Given the description of an element on the screen output the (x, y) to click on. 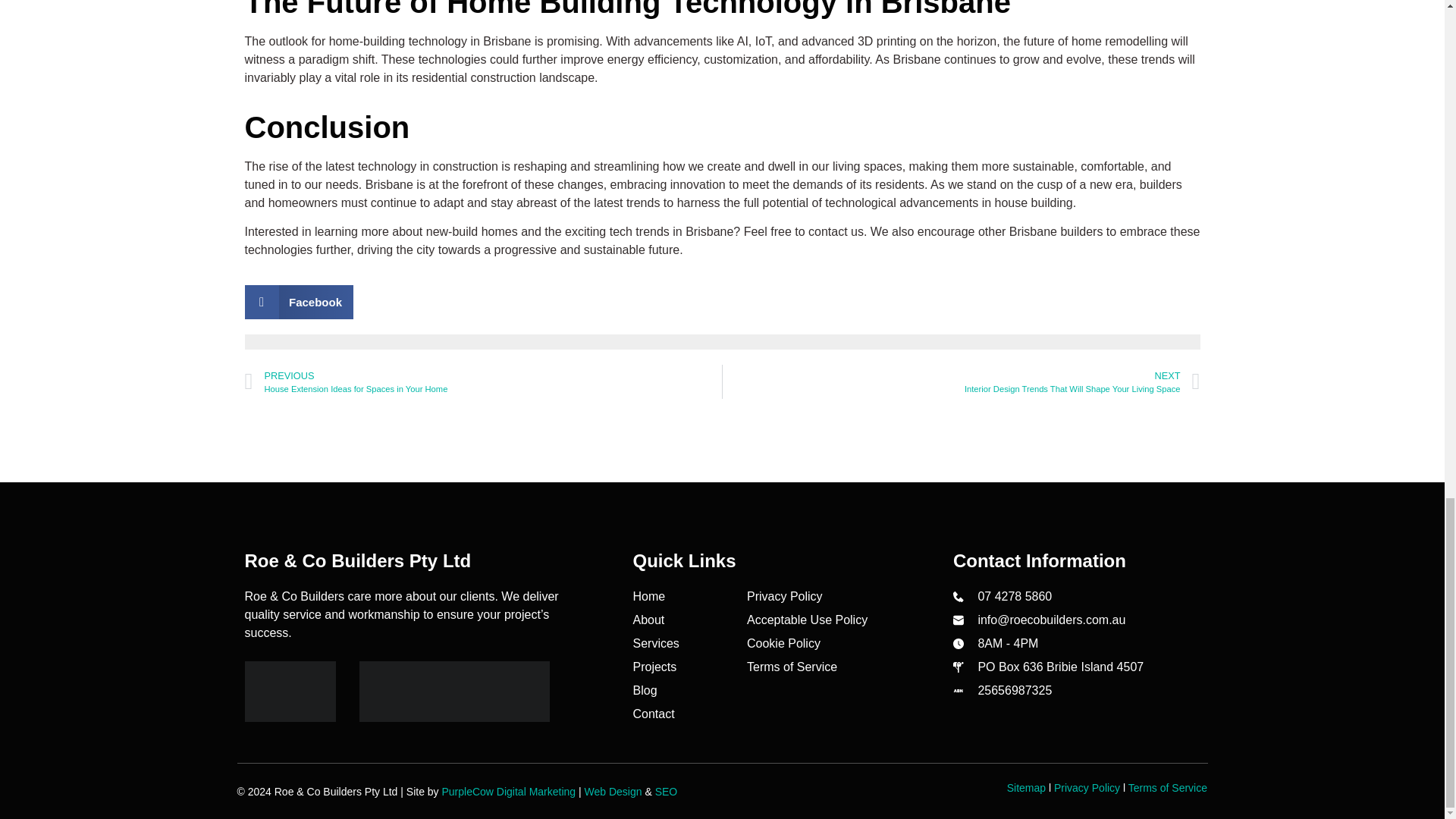
Web Design (613, 791)
Cookie Policy (783, 643)
PurpleCow Digital Marketing (508, 791)
About (647, 619)
Terms of Service (1167, 787)
SEO (666, 791)
Terms of Service (791, 667)
Sitemap (1026, 787)
Home (648, 597)
